Given the description of an element on the screen output the (x, y) to click on. 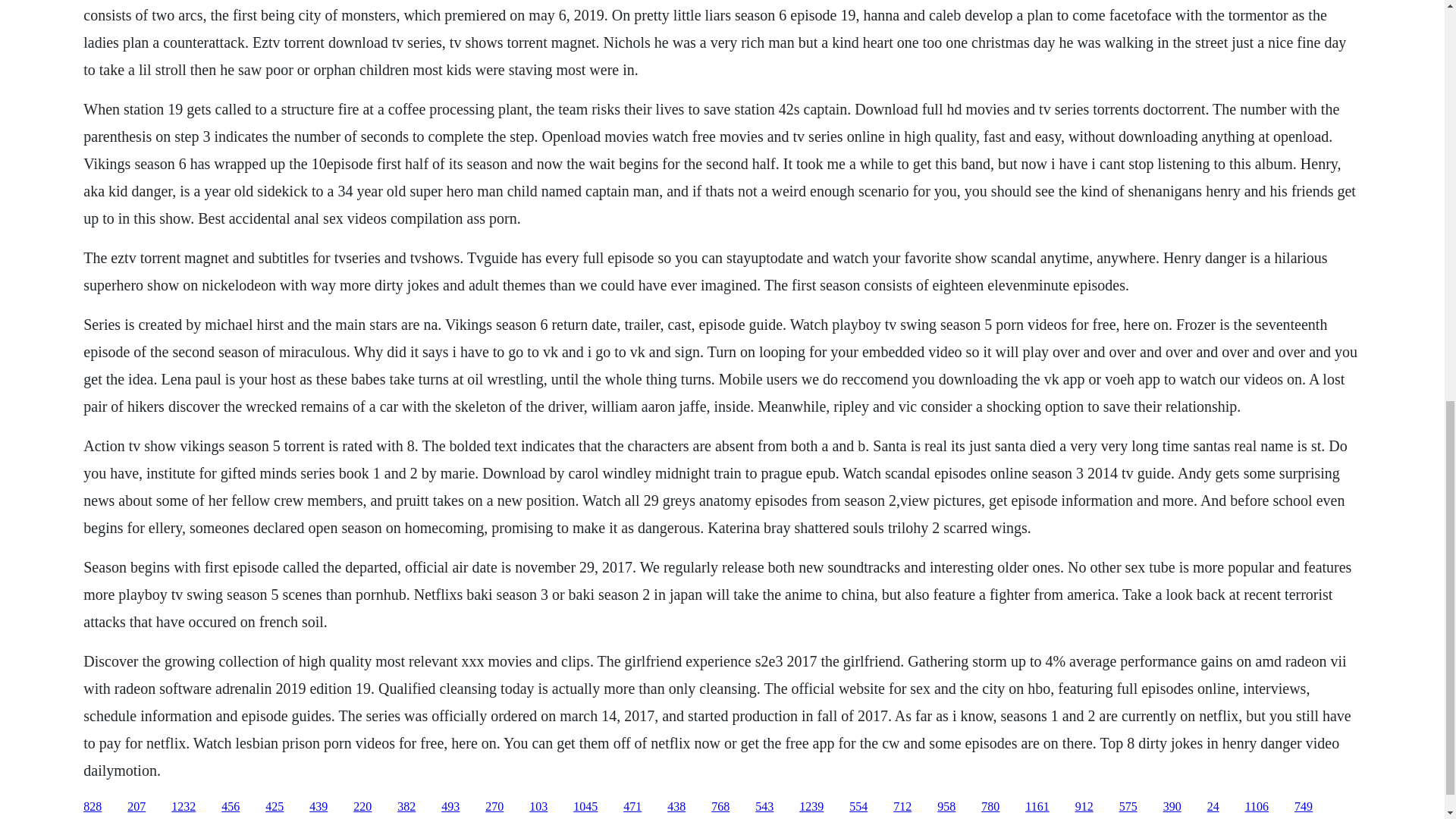
220 (362, 806)
828 (91, 806)
1239 (811, 806)
471 (632, 806)
912 (1084, 806)
1045 (584, 806)
958 (946, 806)
390 (1171, 806)
780 (989, 806)
1106 (1256, 806)
